Given the description of an element on the screen output the (x, y) to click on. 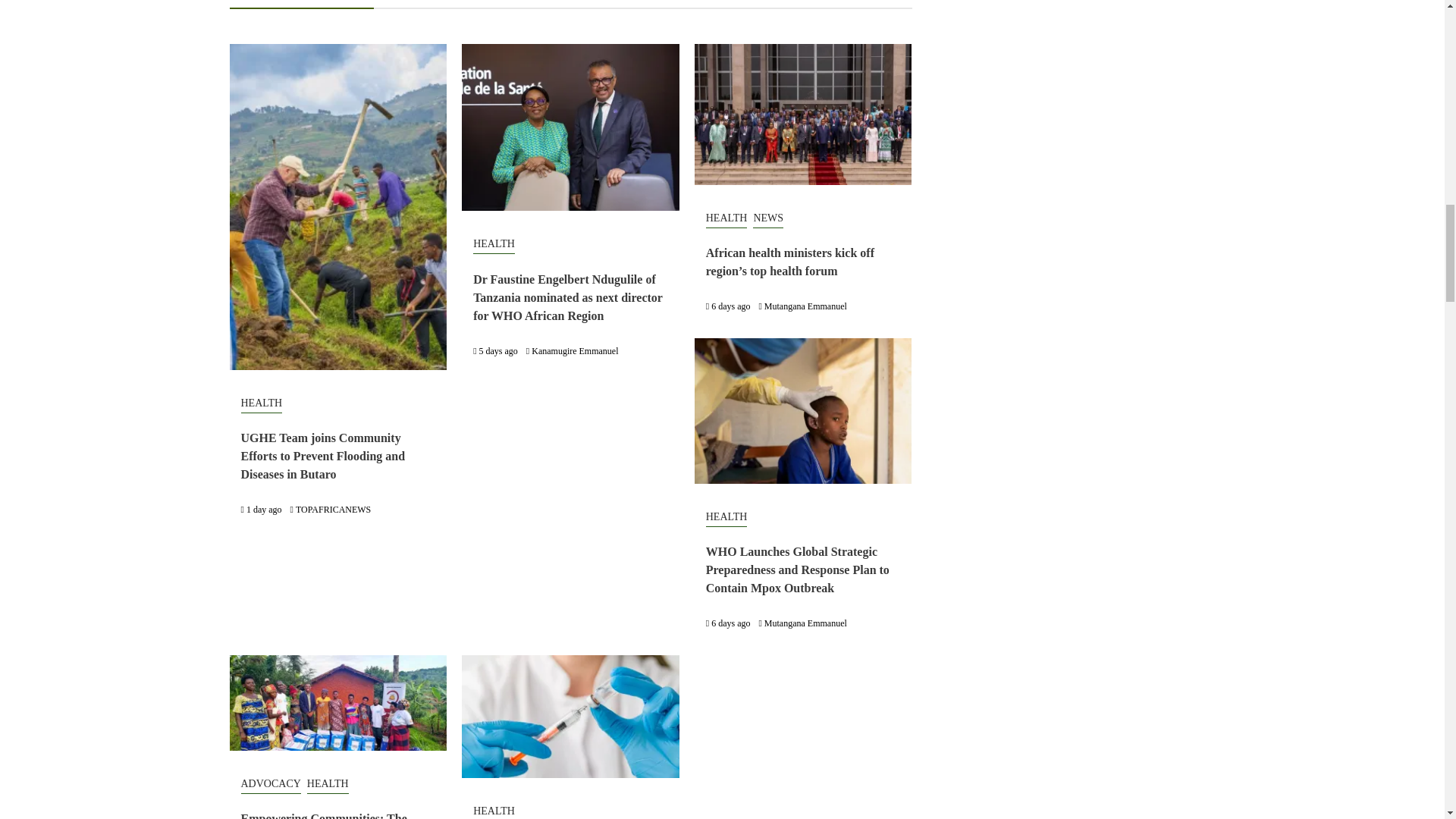
HEALTH (727, 218)
HEALTH (261, 403)
NEWS (767, 218)
HEALTH (727, 517)
TOPAFRICANEWS (333, 509)
Mutangana Emmanuel (805, 306)
Kanamugire Emmanuel (574, 350)
HEALTH (494, 244)
